Given the description of an element on the screen output the (x, y) to click on. 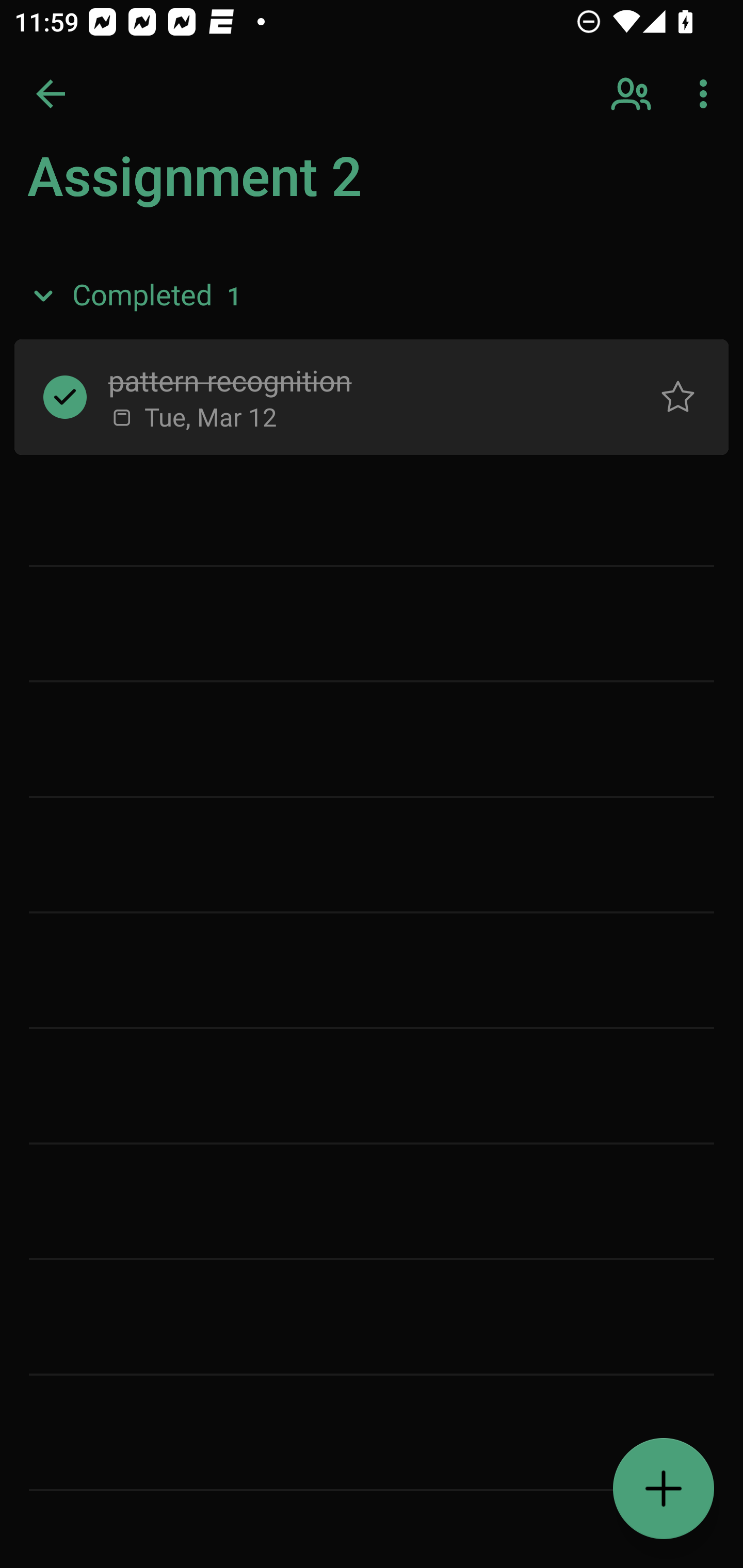
Back (50, 93)
Sharing options (632, 93)
More options (706, 93)
My Day, 0 tasks (182, 187)
Important, 0 tasks (182, 274)
Completed task pattern recognition, Button (64, 397)
Normal task pattern recognition, Button (677, 397)
pattern recognition (356, 379)
Add a task (663, 1488)
